Given the description of an element on the screen output the (x, y) to click on. 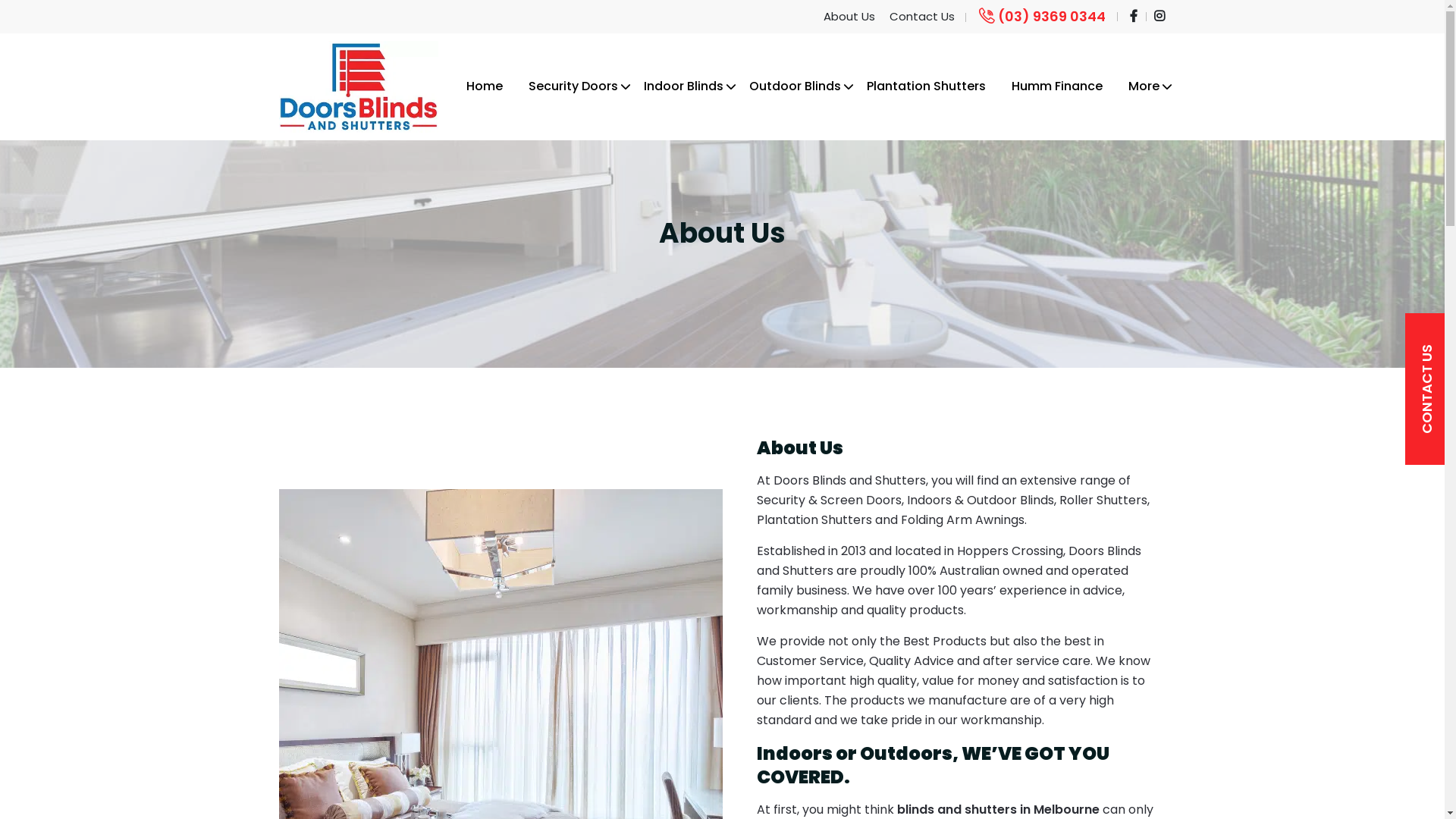
About Us Element type: text (849, 16)
Contact Us Element type: text (920, 16)
Outdoor Blinds Element type: text (794, 86)
Plantation Shutters Element type: text (926, 86)
Security Doors Element type: text (573, 86)
Home Element type: text (484, 86)
More Element type: text (1143, 86)
Humm Finance Element type: text (1056, 86)
(03) 9369 0344 Element type: text (1040, 16)
Indoor Blinds Element type: text (683, 86)
